Given the description of an element on the screen output the (x, y) to click on. 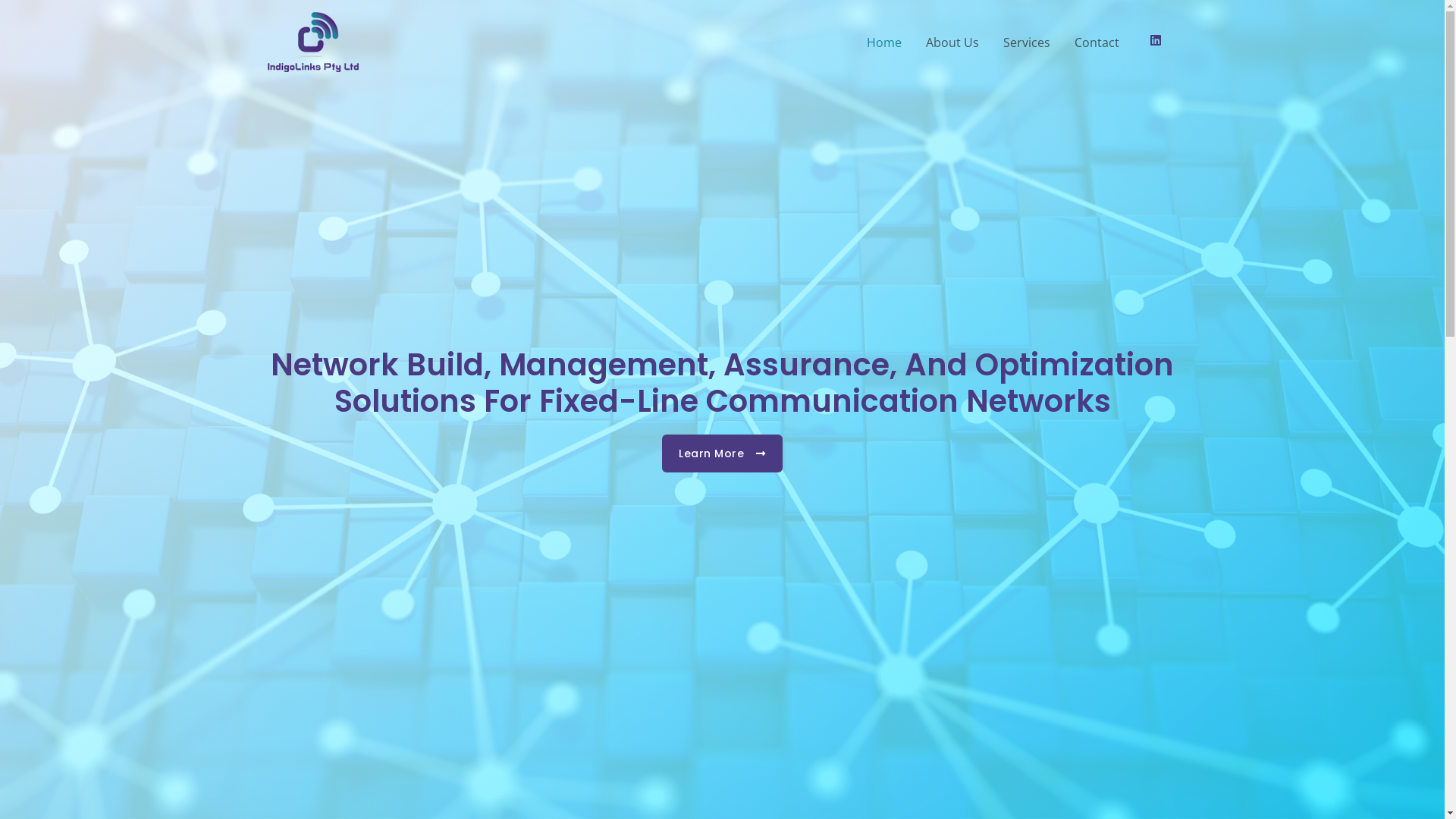
Contact Element type: text (1096, 42)
Learn More Element type: text (722, 453)
Home Element type: text (883, 42)
Services Element type: text (1026, 42)
About Us Element type: text (952, 42)
